Given the description of an element on the screen output the (x, y) to click on. 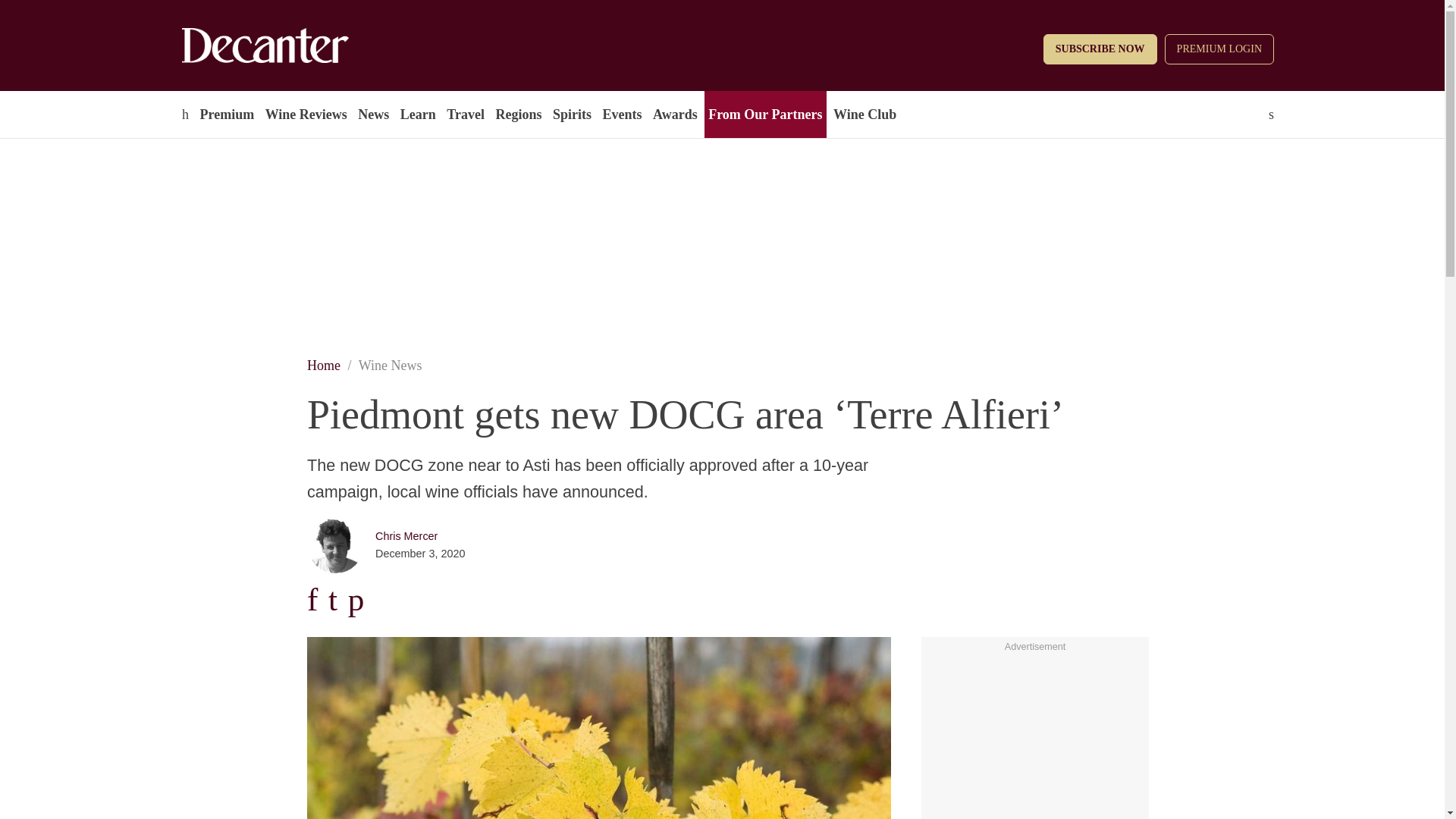
Decanter (297, 45)
News (373, 114)
Travel (464, 114)
Learn (417, 114)
Awards (675, 114)
Premium (226, 114)
Wine Reviews (306, 114)
